Given the description of an element on the screen output the (x, y) to click on. 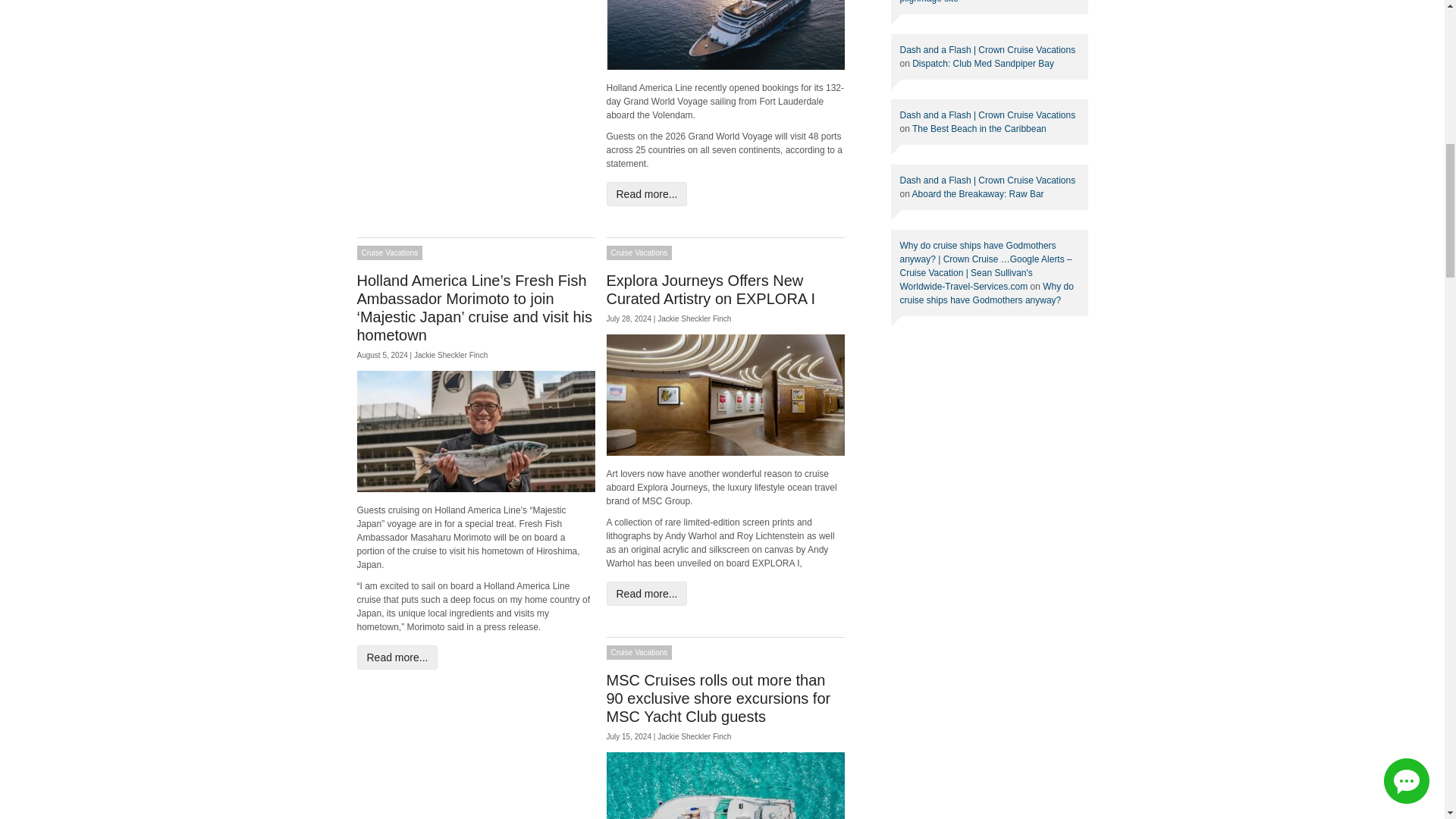
Read more... (397, 657)
Jackie Sheckler Finch (450, 355)
Explora Journeys Offers New Curated Artistry on EXPLORA I (711, 289)
Cruise Vacations (389, 252)
Cruise Vacations (639, 252)
Read more... (647, 193)
